Given the description of an element on the screen output the (x, y) to click on. 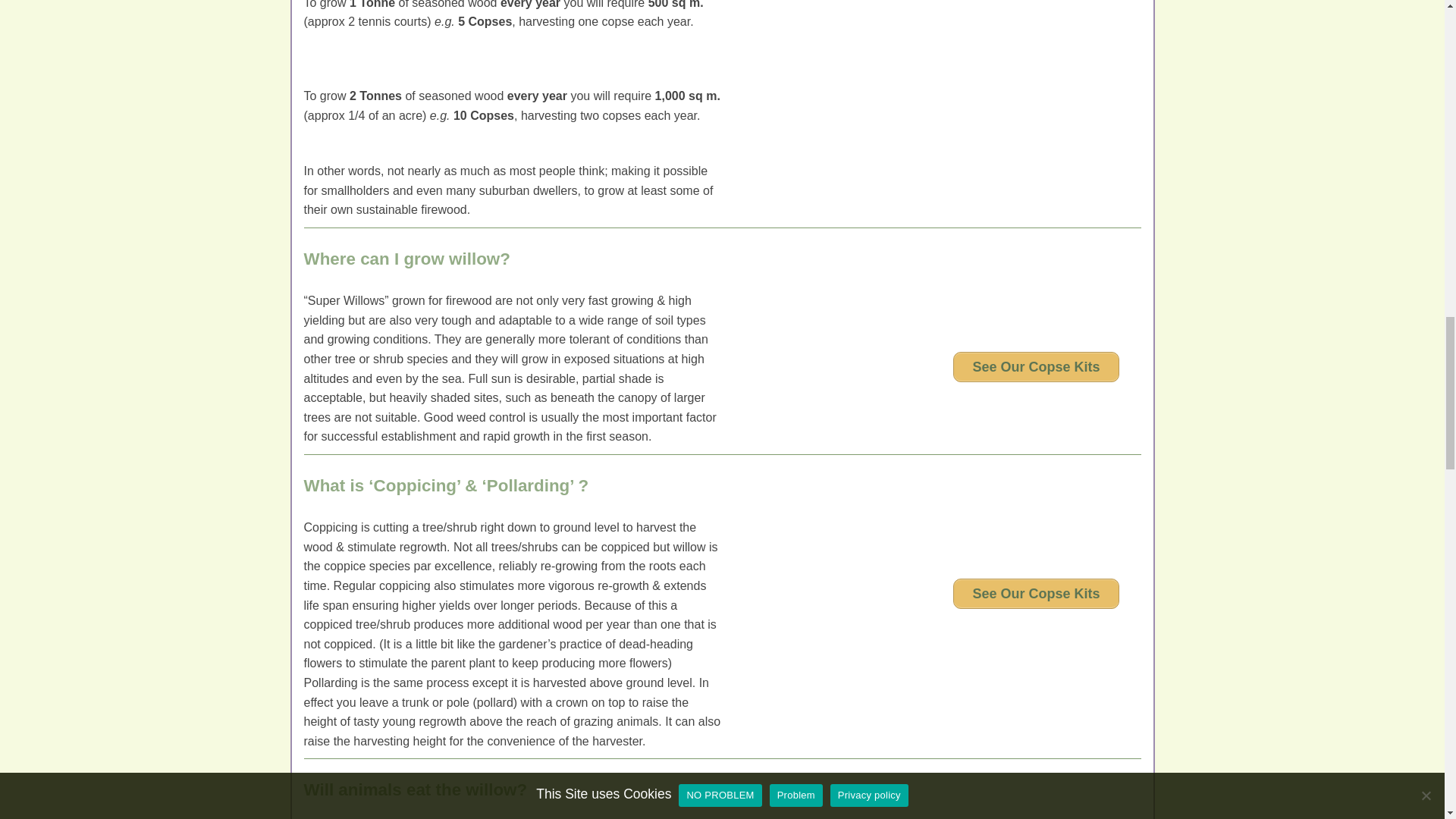
See Our Copse Kits (1035, 593)
See Our Copse Kits (1035, 367)
